Given the description of an element on the screen output the (x, y) to click on. 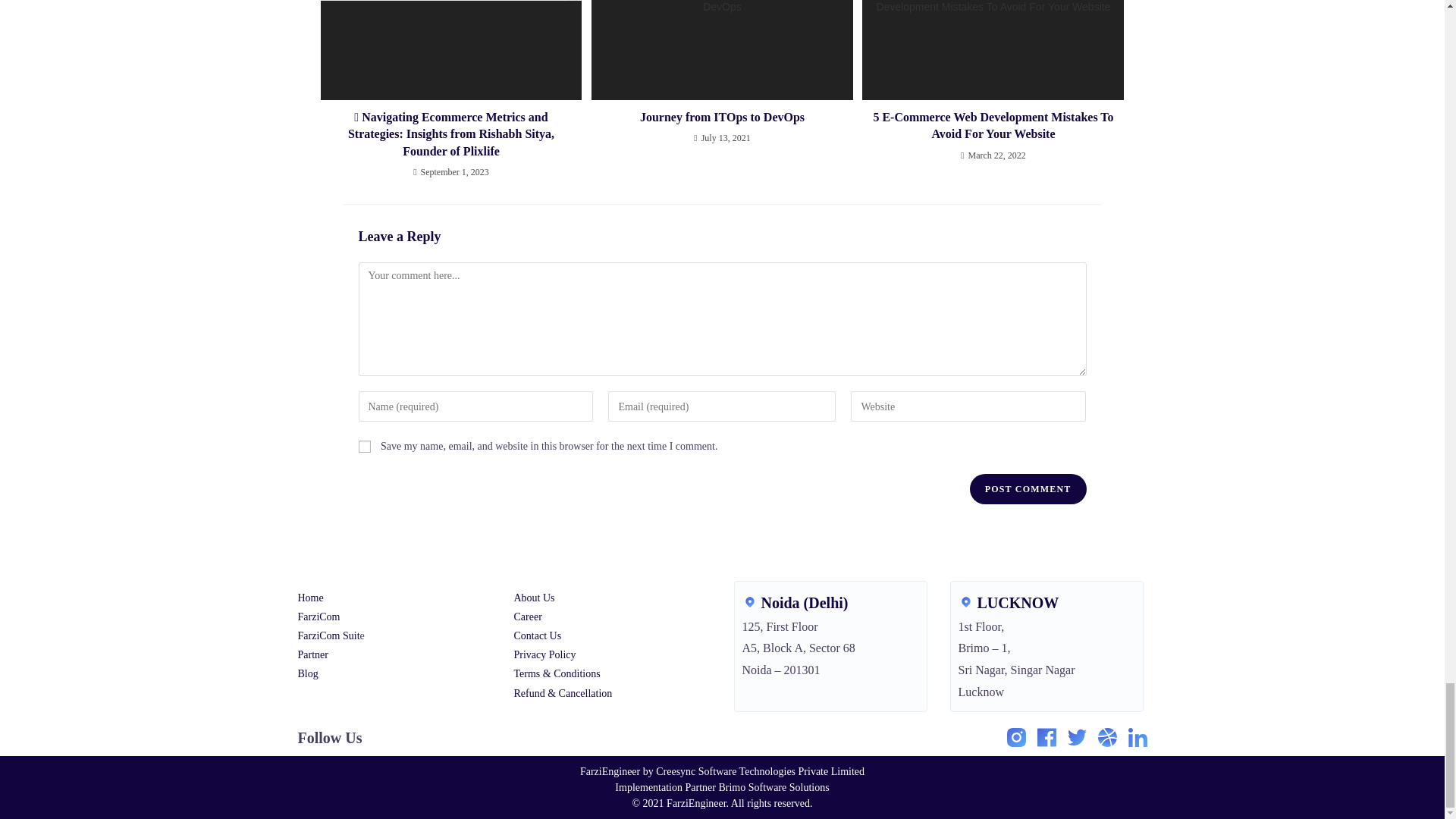
Journey from ITOps to DevOps 3 (722, 49)
Post Comment (1027, 489)
yes (363, 446)
